Given the description of an element on the screen output the (x, y) to click on. 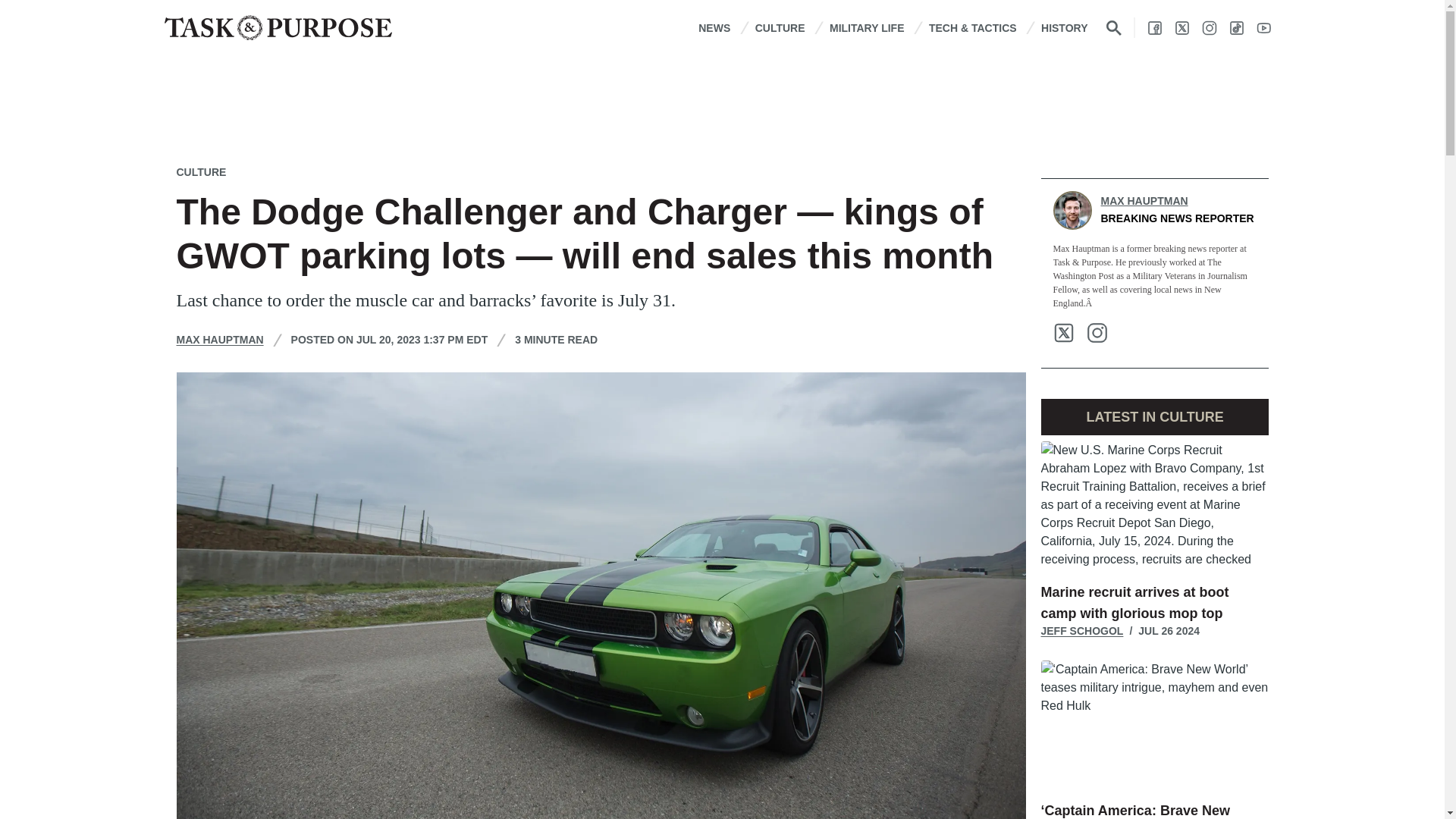
CULTURE (780, 27)
NEWS (714, 27)
MILITARY LIFE (866, 27)
